Given the description of an element on the screen output the (x, y) to click on. 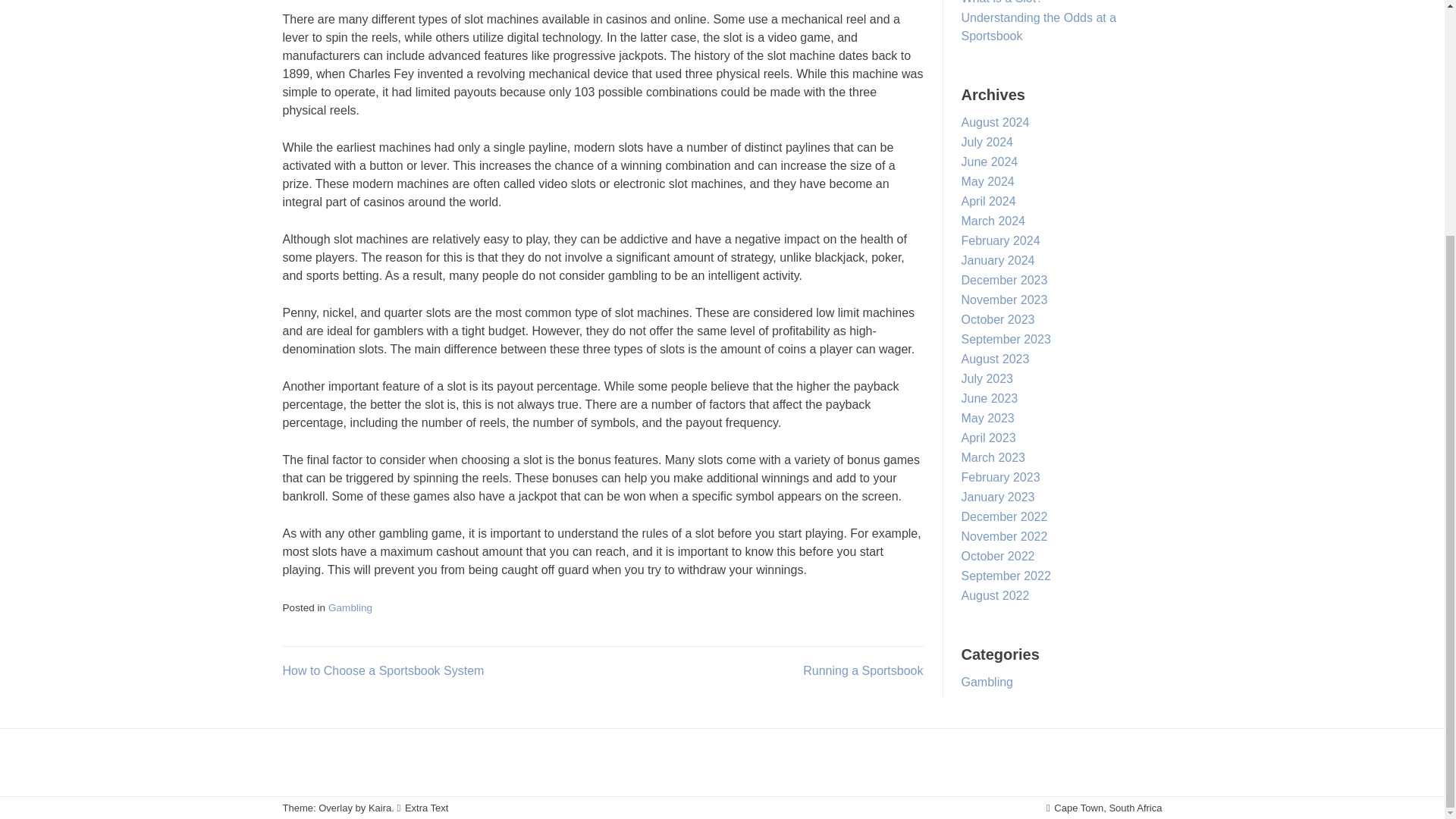
What is a Slot? (1001, 2)
October 2022 (997, 555)
Running a Sportsbook (863, 670)
June 2023 (988, 398)
November 2023 (1004, 299)
May 2023 (987, 418)
Gambling (350, 607)
July 2023 (986, 378)
October 2023 (997, 318)
April 2023 (988, 437)
